Given the description of an element on the screen output the (x, y) to click on. 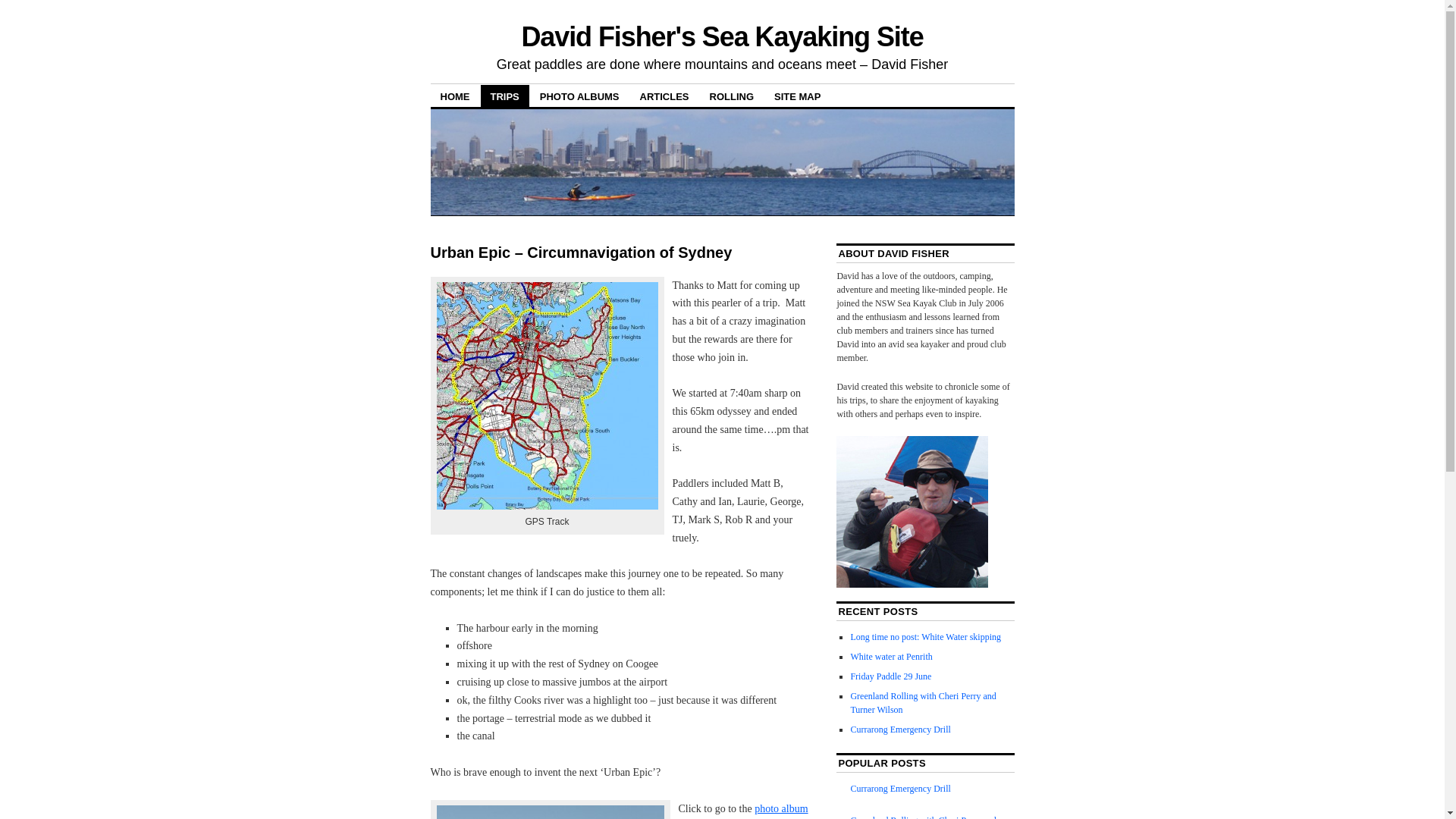
HOME Element type: text (455, 95)
01 David F - GPS track Element type: hover (547, 395)
photo album Element type: text (780, 808)
SITE MAP Element type: text (797, 95)
TRIPS Element type: text (504, 95)
Friday Paddle 29 June Element type: text (890, 676)
Currarong Emergency Drill Element type: text (900, 729)
White water at Penrith Element type: text (890, 656)
ROLLING Element type: text (731, 95)
David Fisher's Sea Kayaking Site Element type: text (721, 36)
ARTICLES Element type: text (664, 95)
PHOTO ALBUMS Element type: text (579, 95)
Long time no post: White Water skipping Element type: text (925, 636)
Greenland Rolling with Cheri Perry and Turner Wilson Element type: text (922, 702)
Currarong Emergency Drill Element type: text (900, 788)
